Given the description of an element on the screen output the (x, y) to click on. 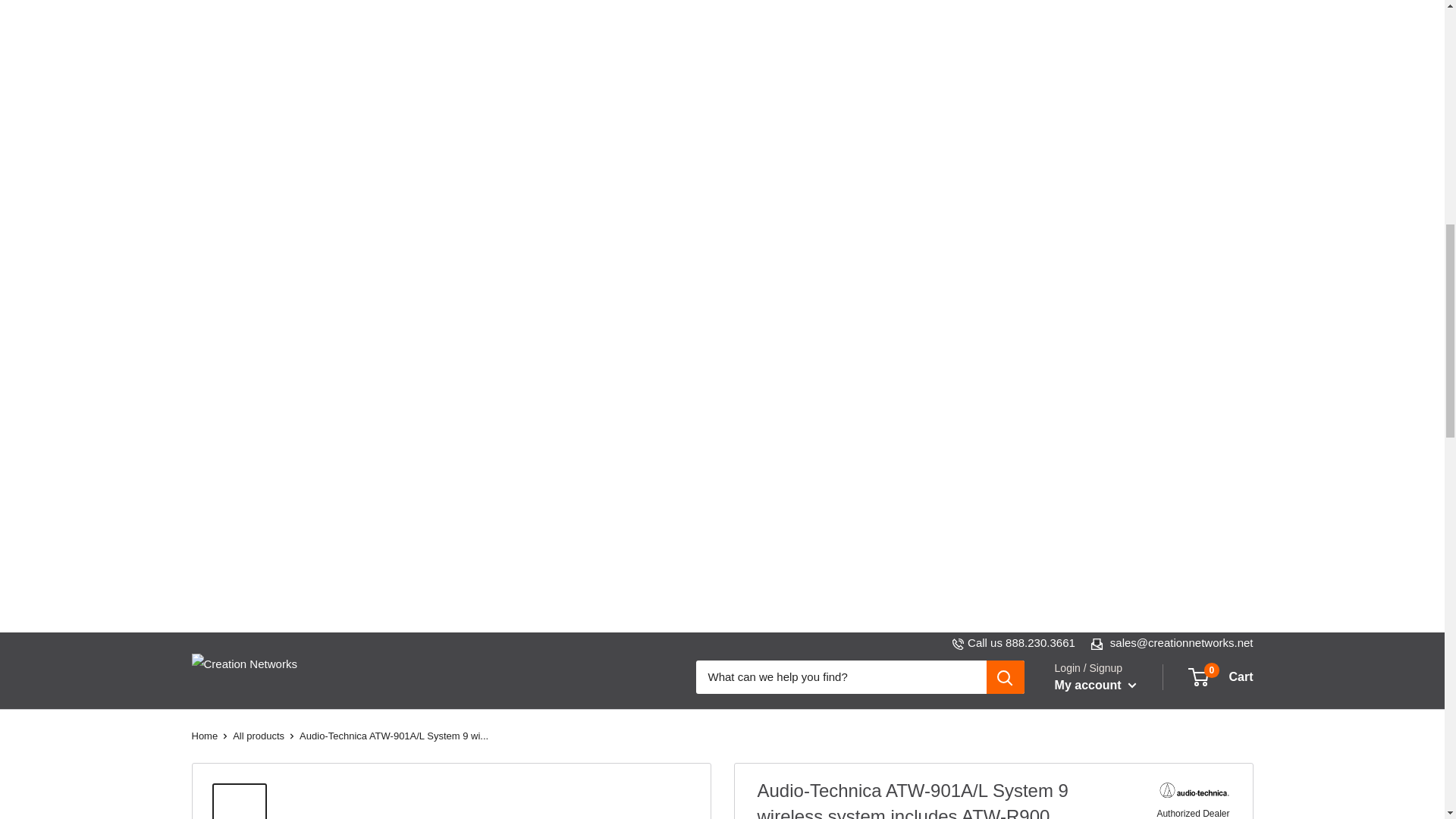
Creation Networks (1220, 676)
Call us 888.230.3661 (304, 677)
My account (1021, 642)
